Given the description of an element on the screen output the (x, y) to click on. 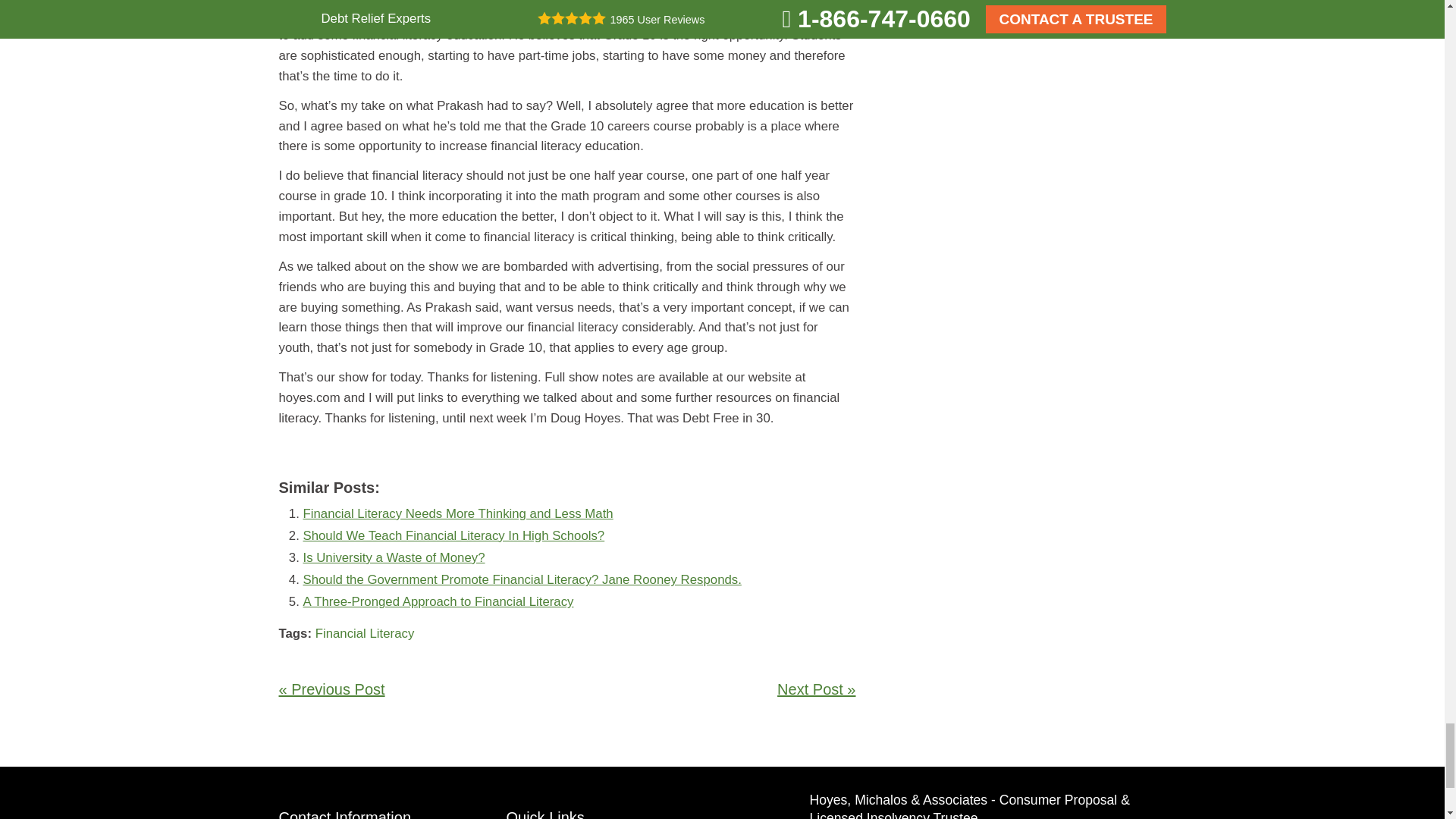
Is University a Waste of Money? (393, 557)
Should We Teach Financial Literacy In High Schools? (453, 535)
A Three-Pronged Approach to Financial Literacy (437, 601)
Should We Teach Financial Literacy In High Schools? (453, 535)
Financial Literacy Needs More Thinking and Less Math (457, 513)
Financial Literacy Needs More Thinking and Less Math (457, 513)
Is University a Waste of Money? (393, 557)
